Given the description of an element on the screen output the (x, y) to click on. 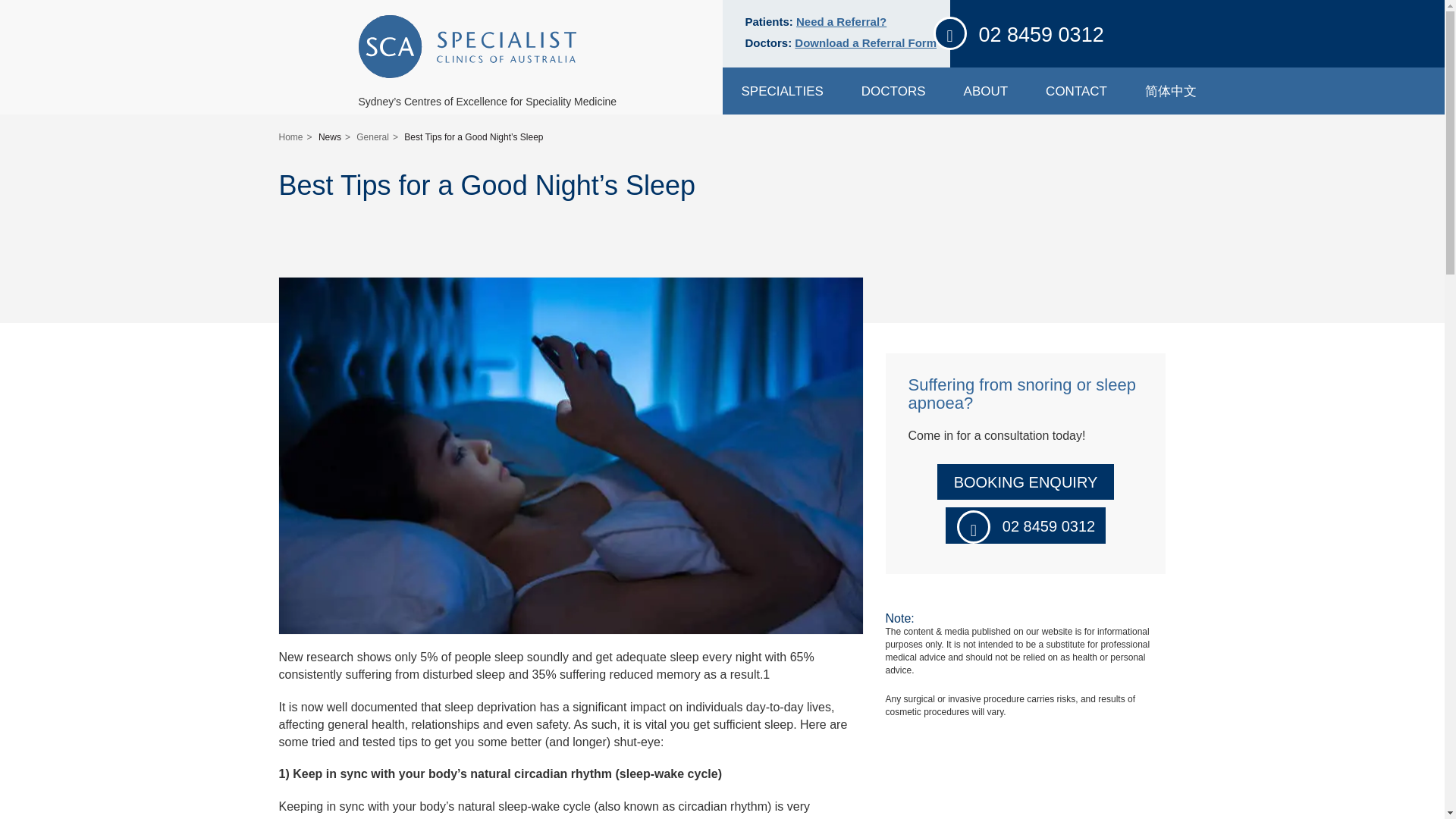
Need a Referral? (841, 21)
Specialist Clinics of Australia Homepage (466, 47)
Home (290, 136)
Download a Referral Form (865, 42)
DOCTORS (893, 90)
General (372, 136)
Snoring enquiry (1026, 481)
CONTACT (1075, 90)
BOOKING ENQUIRY (1026, 481)
02 8459 0312 (1040, 34)
SPECIALTIES (781, 90)
ABOUT (985, 90)
